Given the description of an element on the screen output the (x, y) to click on. 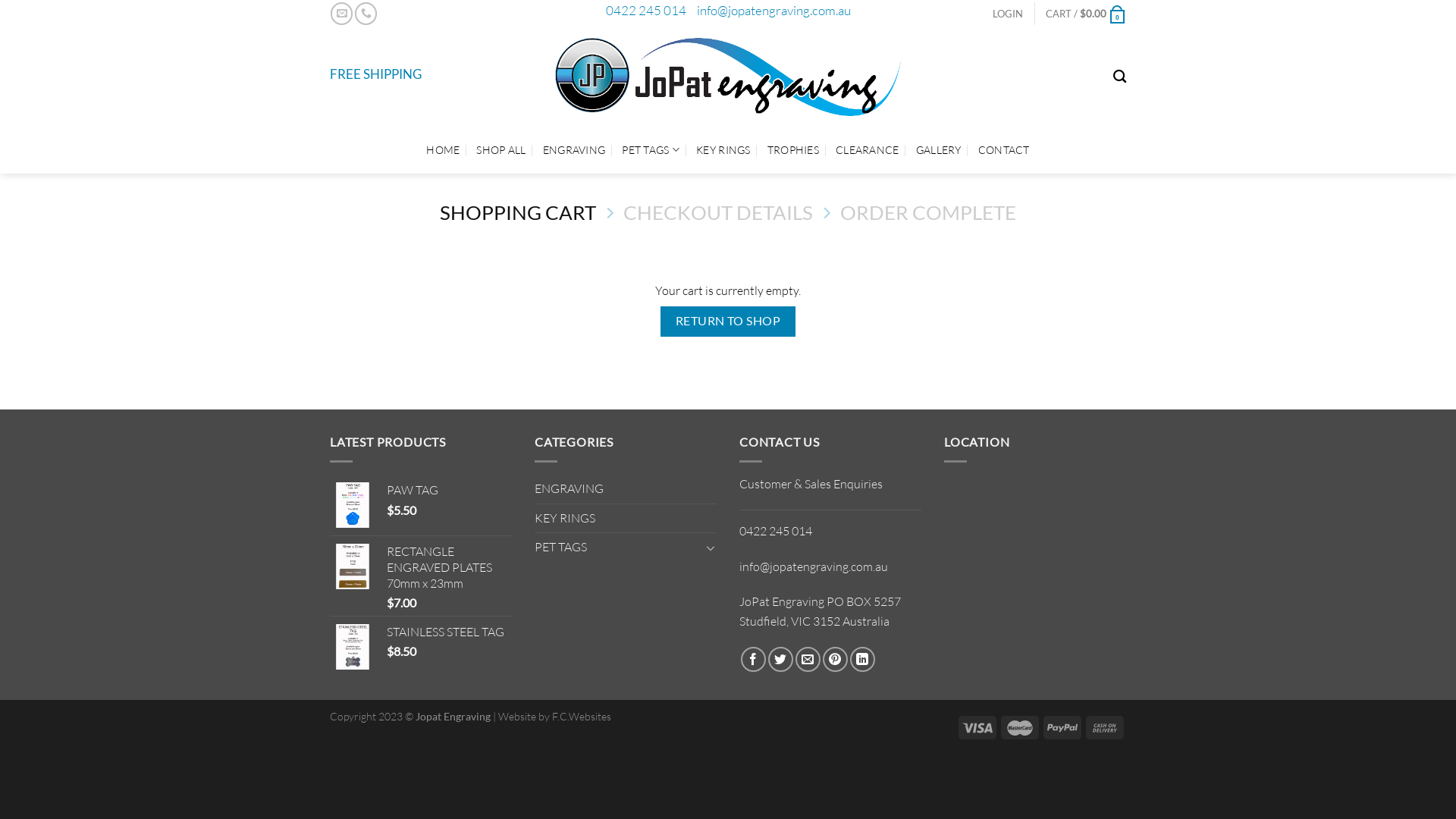
0422 245 014 Element type: text (775, 530)
0422 245 014 Element type: text (645, 10)
ENGRAVING Element type: text (573, 149)
CONTACT Element type: text (1003, 149)
LOGIN Element type: text (1007, 13)
info@jopatengraving.com.au Element type: text (773, 10)
PET TAGS Element type: text (617, 547)
KEY RINGS Element type: text (625, 518)
Share on Twitter Element type: hover (780, 658)
CLEARANCE Element type: text (867, 149)
Pin on Pinterest Element type: hover (834, 658)
HOME Element type: text (442, 149)
RETURN TO SHOP Element type: text (727, 320)
info@jopatengraving.com.au Element type: text (813, 566)
CHECKOUT DETAILS Element type: text (717, 211)
GALLERY Element type: text (938, 149)
SHOPPING CART Element type: text (517, 211)
KEY RINGS Element type: text (723, 149)
RECTANGLE ENGRAVED PLATES 70mm x 23mm Element type: text (448, 566)
CART / $0.00
0 Element type: text (1085, 13)
Call us Element type: hover (365, 13)
PET TAGS Element type: text (650, 149)
ENGRAVING Element type: text (625, 488)
Jopat Engraving - Engraving Services Ringwood Element type: hover (728, 76)
Share on Facebook Element type: hover (752, 658)
SHOP ALL Element type: text (500, 149)
Share on LinkedIn Element type: hover (862, 658)
F.C.Websites Element type: text (581, 715)
ORDER COMPLETE Element type: text (928, 211)
STAINLESS STEEL TAG Element type: text (448, 632)
PAW TAG Element type: text (448, 490)
Send us an email Element type: hover (341, 13)
Email to a Friend Element type: hover (807, 658)
TROPHIES Element type: text (793, 149)
